Given the description of an element on the screen output the (x, y) to click on. 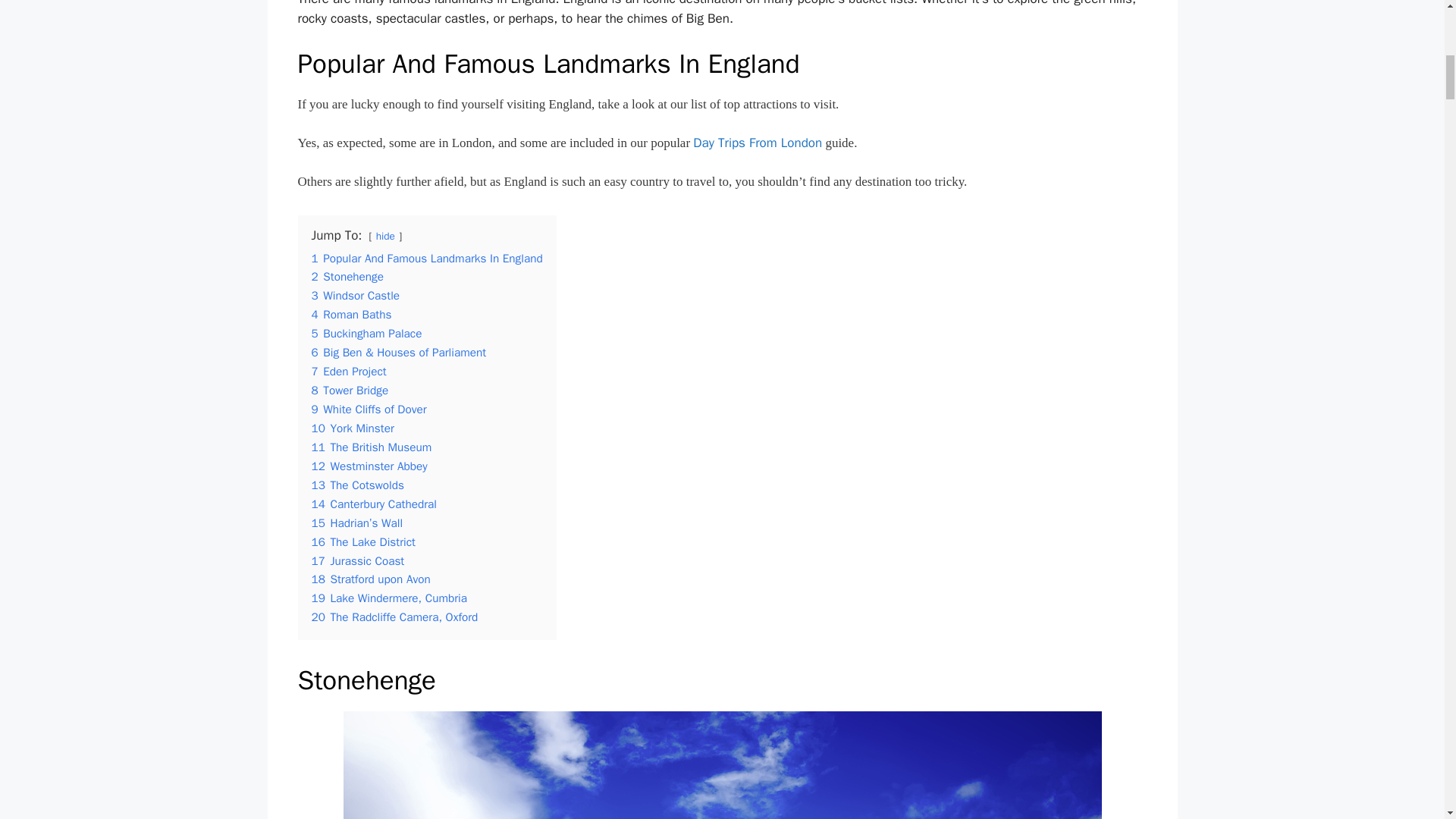
2 Stonehenge (347, 276)
17 Jurassic Coast (357, 560)
hide (384, 236)
3 Windsor Castle (354, 295)
12 Westminster Abbey (368, 466)
14 Canterbury Cathedral (373, 503)
4 Roman Baths (351, 314)
5 Buckingham Palace (366, 333)
9 White Cliffs of Dover (368, 409)
18 Stratford upon Avon (370, 579)
